Given the description of an element on the screen output the (x, y) to click on. 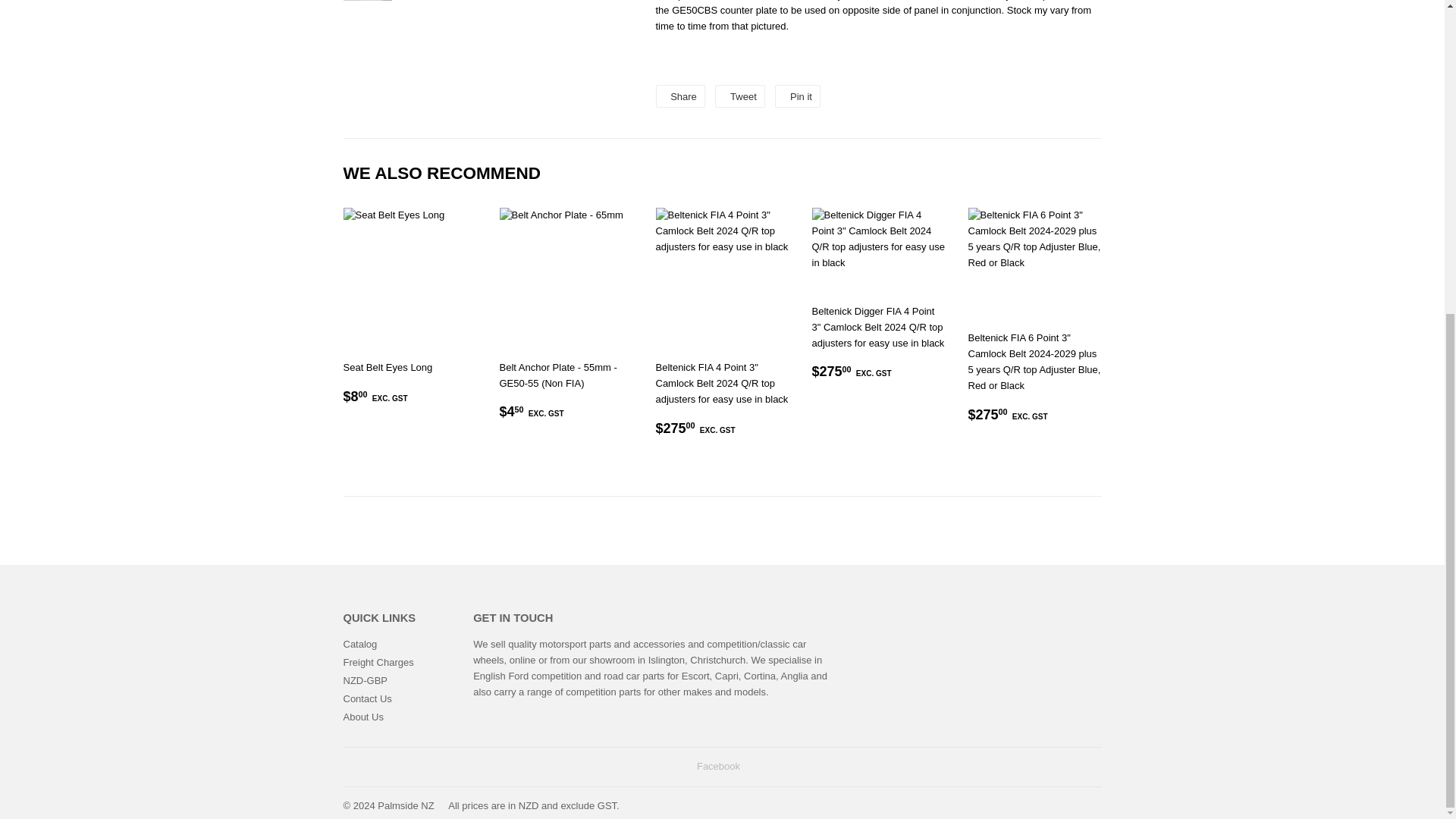
Pin on Pinterest (797, 96)
Tweet on Twitter (739, 96)
Palmside NZ on Facebook (718, 766)
Share on Facebook (679, 96)
